Given the description of an element on the screen output the (x, y) to click on. 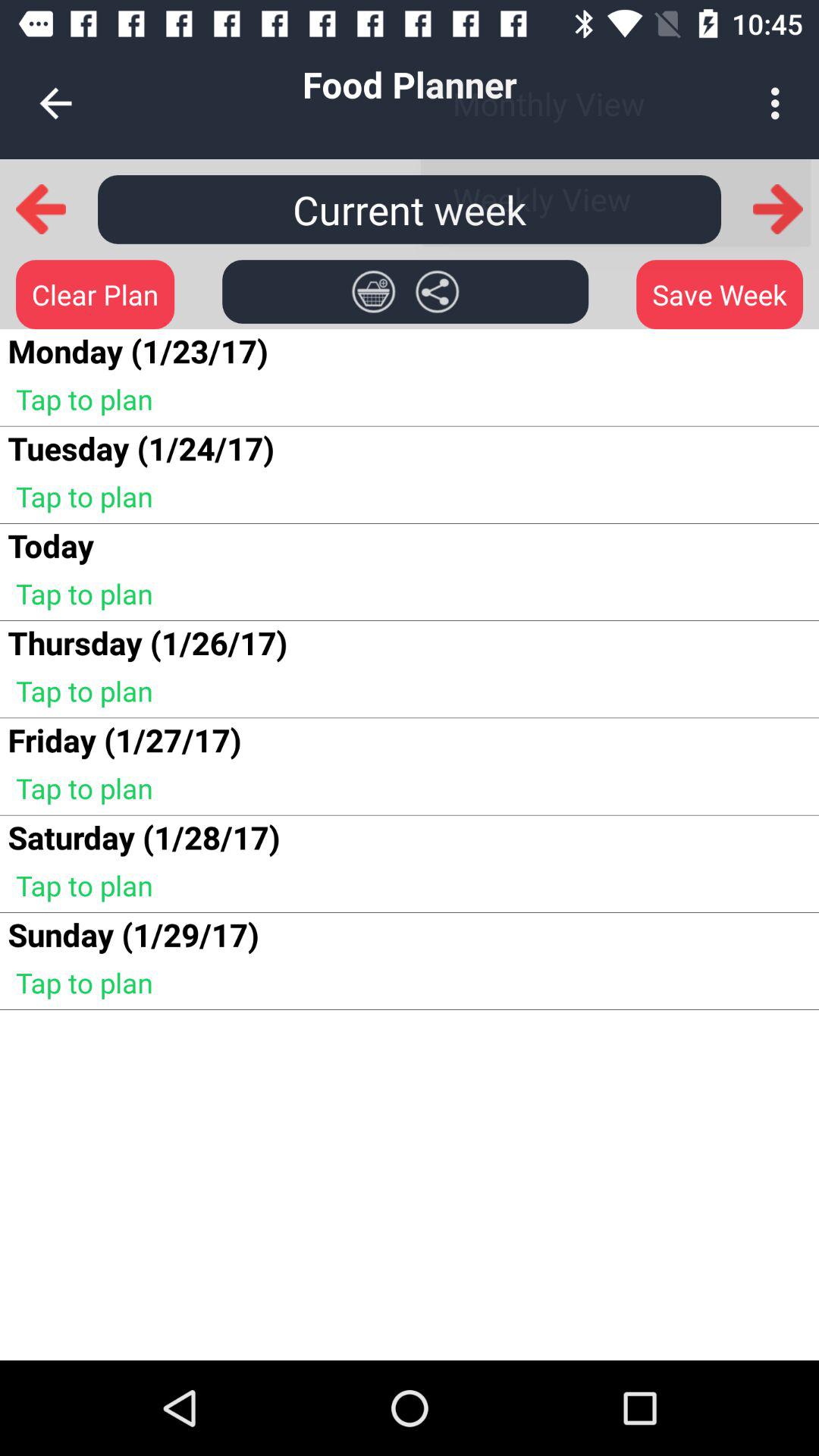
turn on the save week icon (719, 294)
